Given the description of an element on the screen output the (x, y) to click on. 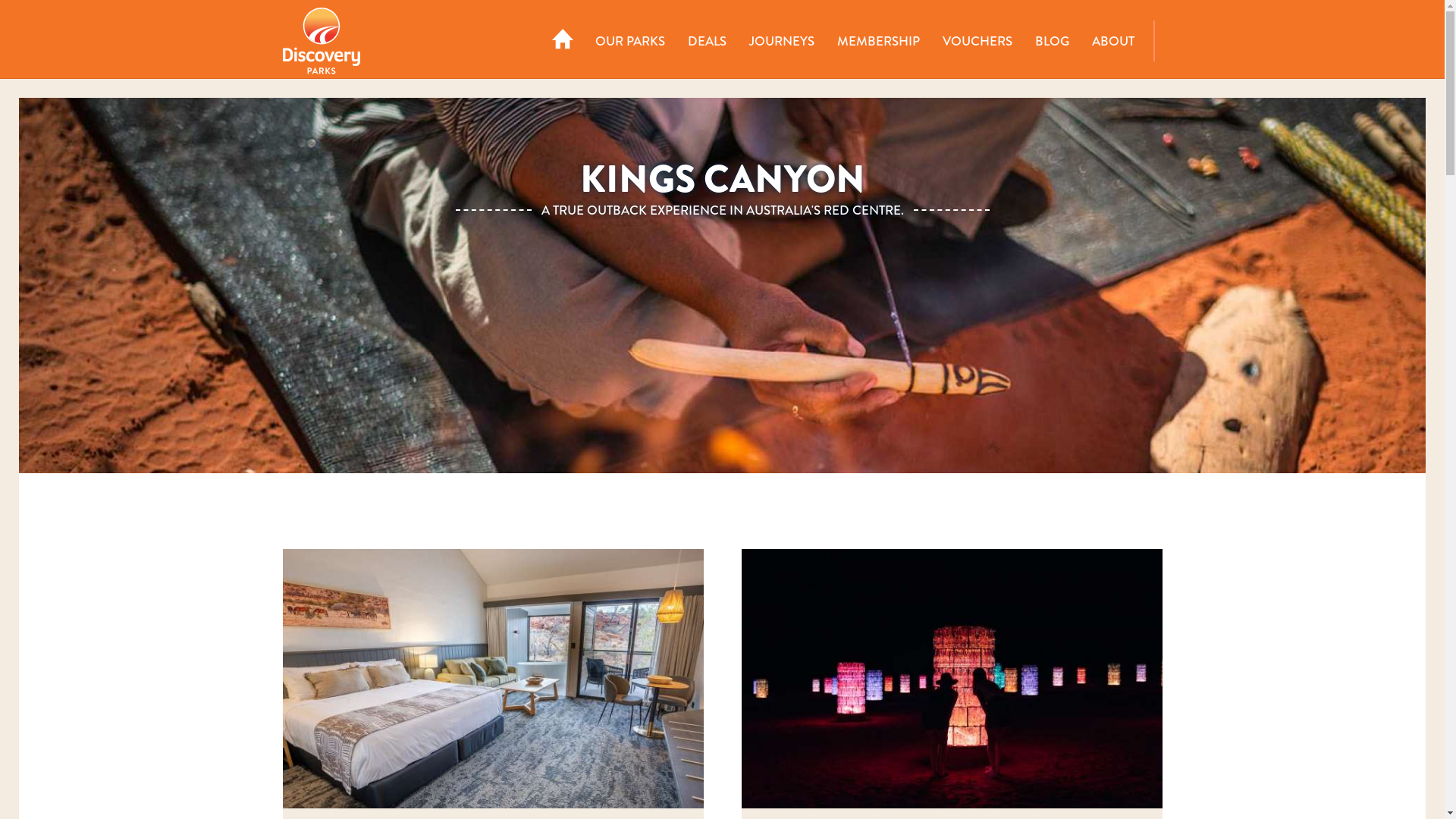
ABOUT Element type: text (1112, 41)
DEALS Element type: text (706, 41)
OUR PARKS Element type: text (629, 41)
HOME Element type: text (562, 40)
VOUCHERS Element type: text (977, 41)
MEMBERSHIP Element type: text (877, 41)
JOURNEYS Element type: text (781, 41)
BLOG Element type: text (1051, 41)
